Given the description of an element on the screen output the (x, y) to click on. 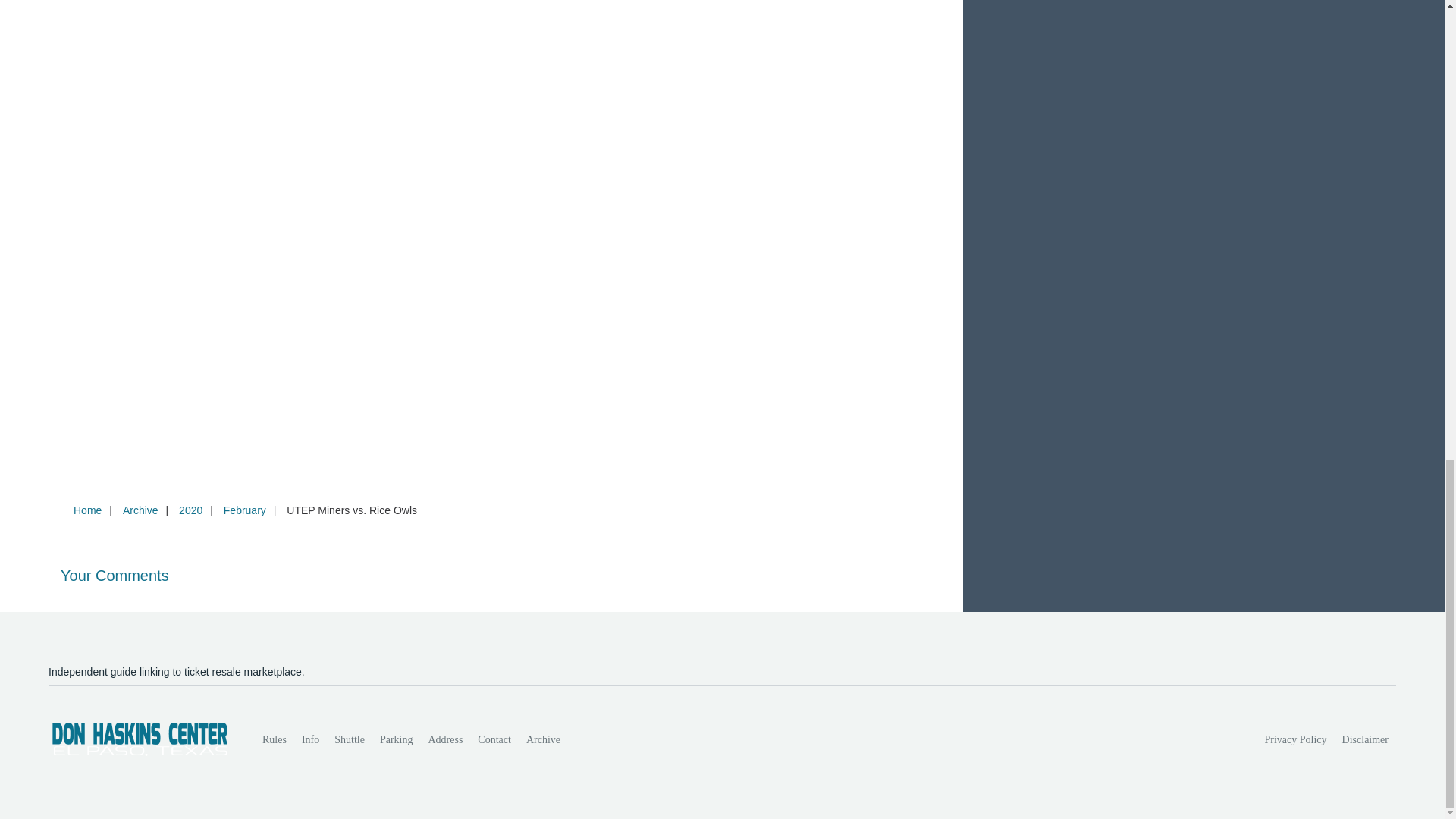
Shuttle (349, 739)
Archive (542, 739)
Rules (274, 739)
February (244, 510)
Contact (494, 739)
Address (445, 739)
Parking (396, 739)
Archive (140, 510)
Disclaimer (1365, 739)
Home (87, 510)
2020 (190, 510)
Privacy Policy (1296, 739)
Info (310, 739)
